Given the description of an element on the screen output the (x, y) to click on. 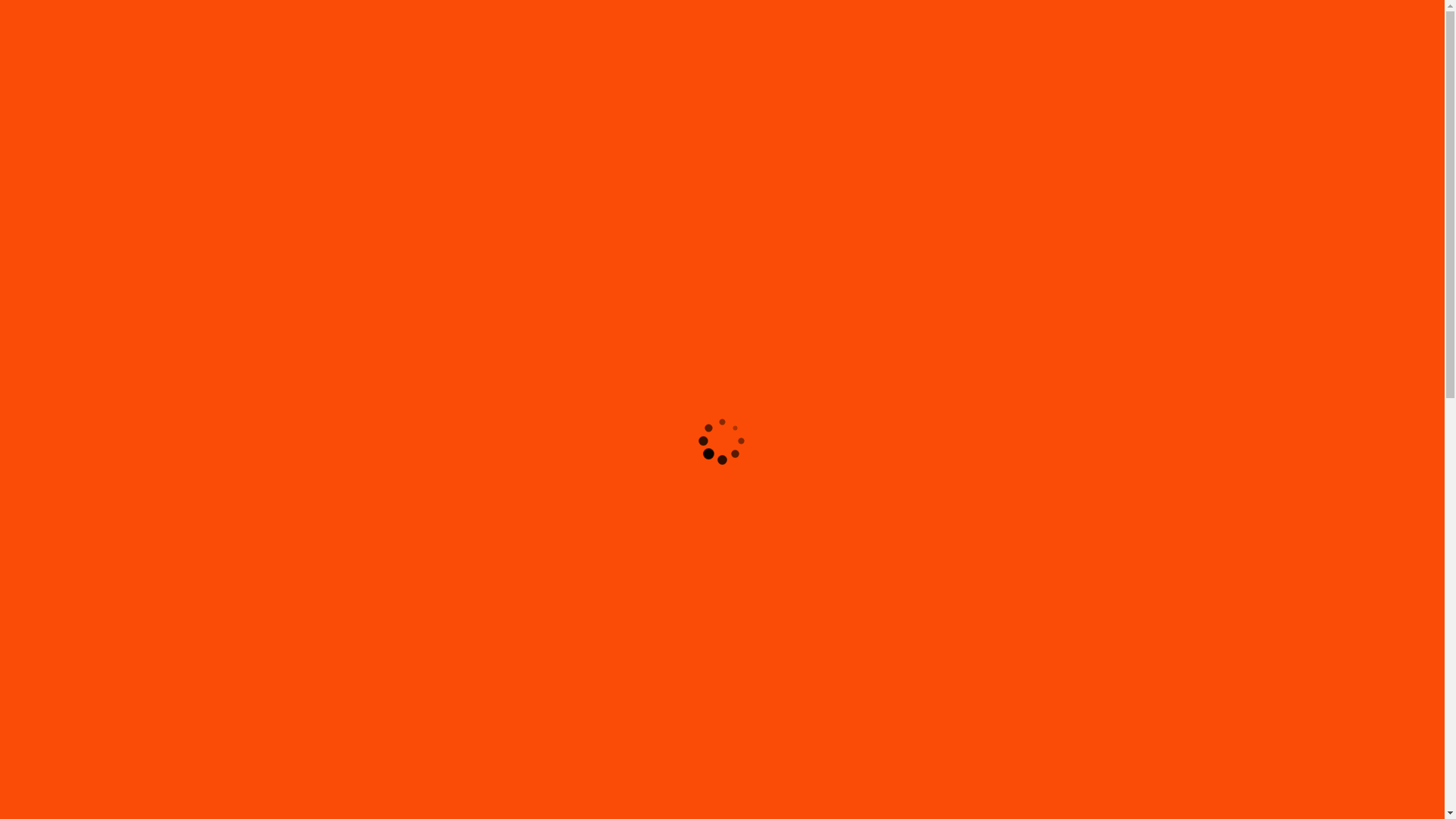
Apparel Element type: text (1057, 3)
HARLEY-DAVIDSON Element type: text (1201, 91)
Home Element type: text (977, 3)
HARLEY-DAVIDSON Element type: text (1123, 3)
Add to cart Element type: text (1201, 774)
European Element type: text (1222, 3)
Add to cart Element type: text (246, 774)
0 Element type: text (1421, 7)
Indian Element type: text (1184, 3)
Add to cart Element type: text (723, 774)
LIGHTING Element type: text (1275, 91)
Contact Us Element type: text (1316, 3)
HOME Element type: text (1135, 91)
My account Element type: text (1369, 3)
Japanese Element type: text (1267, 3)
Gift Cards Element type: text (1015, 3)
